Given the description of an element on the screen output the (x, y) to click on. 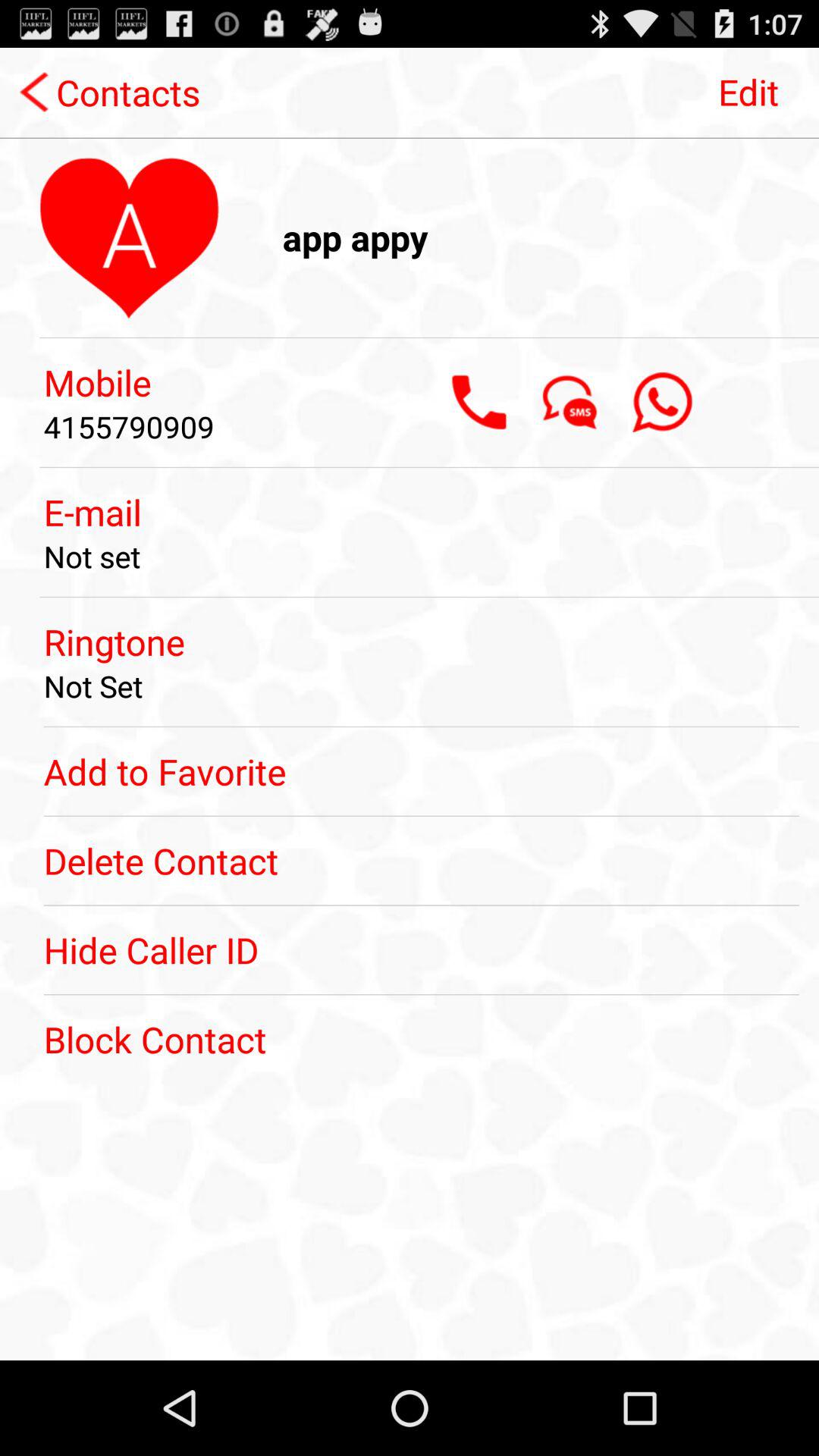
send text message (570, 402)
